Given the description of an element on the screen output the (x, y) to click on. 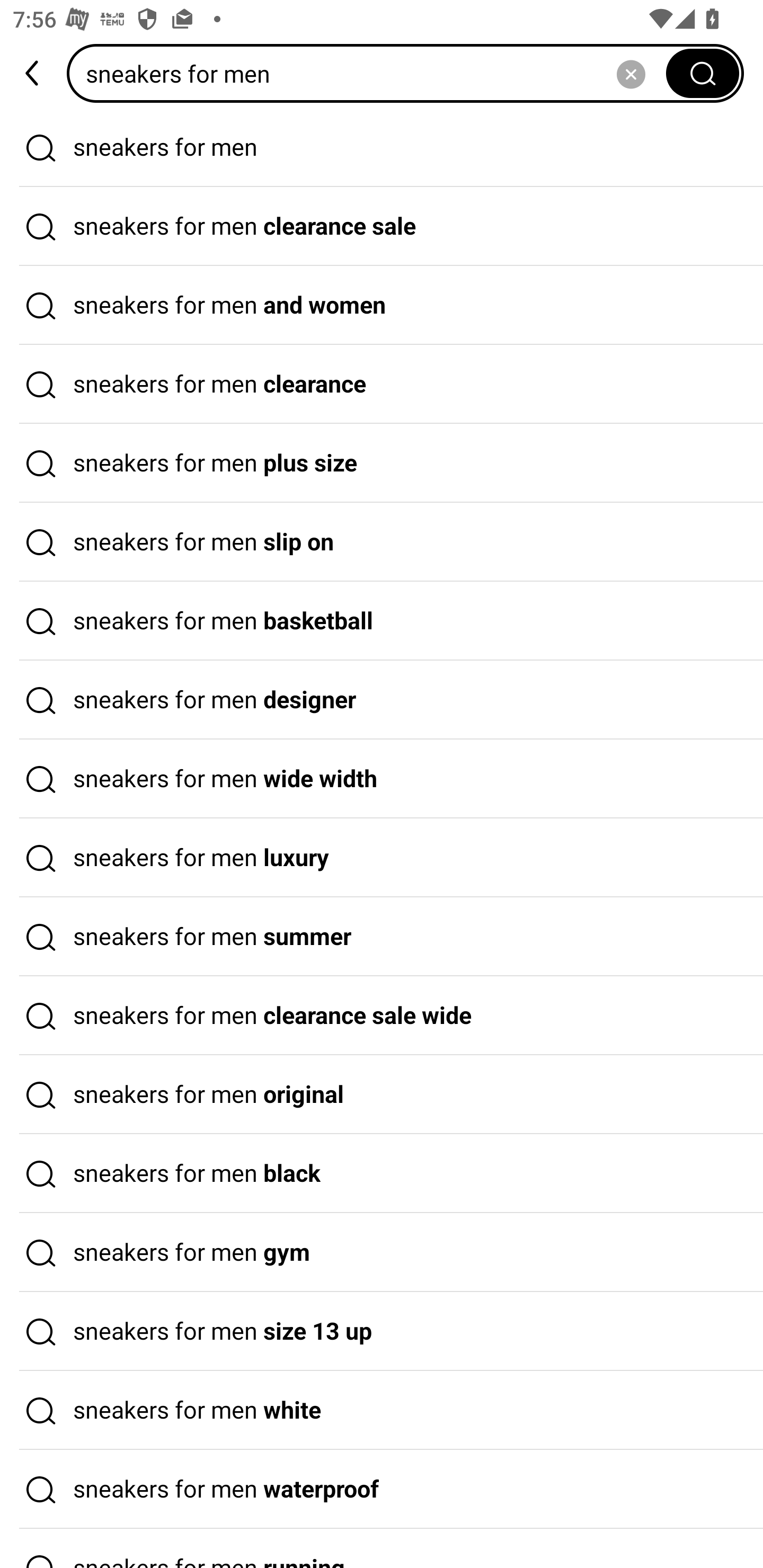
back (33, 72)
sneakers for men (372, 73)
Delete search history (630, 73)
sneakers for men (381, 147)
sneakers for men clearance sale (381, 226)
sneakers for men and women (381, 305)
sneakers for men clearance (381, 383)
sneakers for men plus size (381, 463)
sneakers for men slip on (381, 542)
sneakers for men basketball (381, 620)
sneakers for men designer (381, 700)
sneakers for men wide width (381, 779)
sneakers for men luxury (381, 857)
sneakers for men summer (381, 936)
sneakers for men clearance sale wide (381, 1015)
sneakers for men original (381, 1094)
sneakers for men black (381, 1173)
sneakers for men gym (381, 1252)
sneakers for men size 13 up (381, 1331)
sneakers for men white (381, 1410)
sneakers for men waterproof (381, 1489)
